Given the description of an element on the screen output the (x, y) to click on. 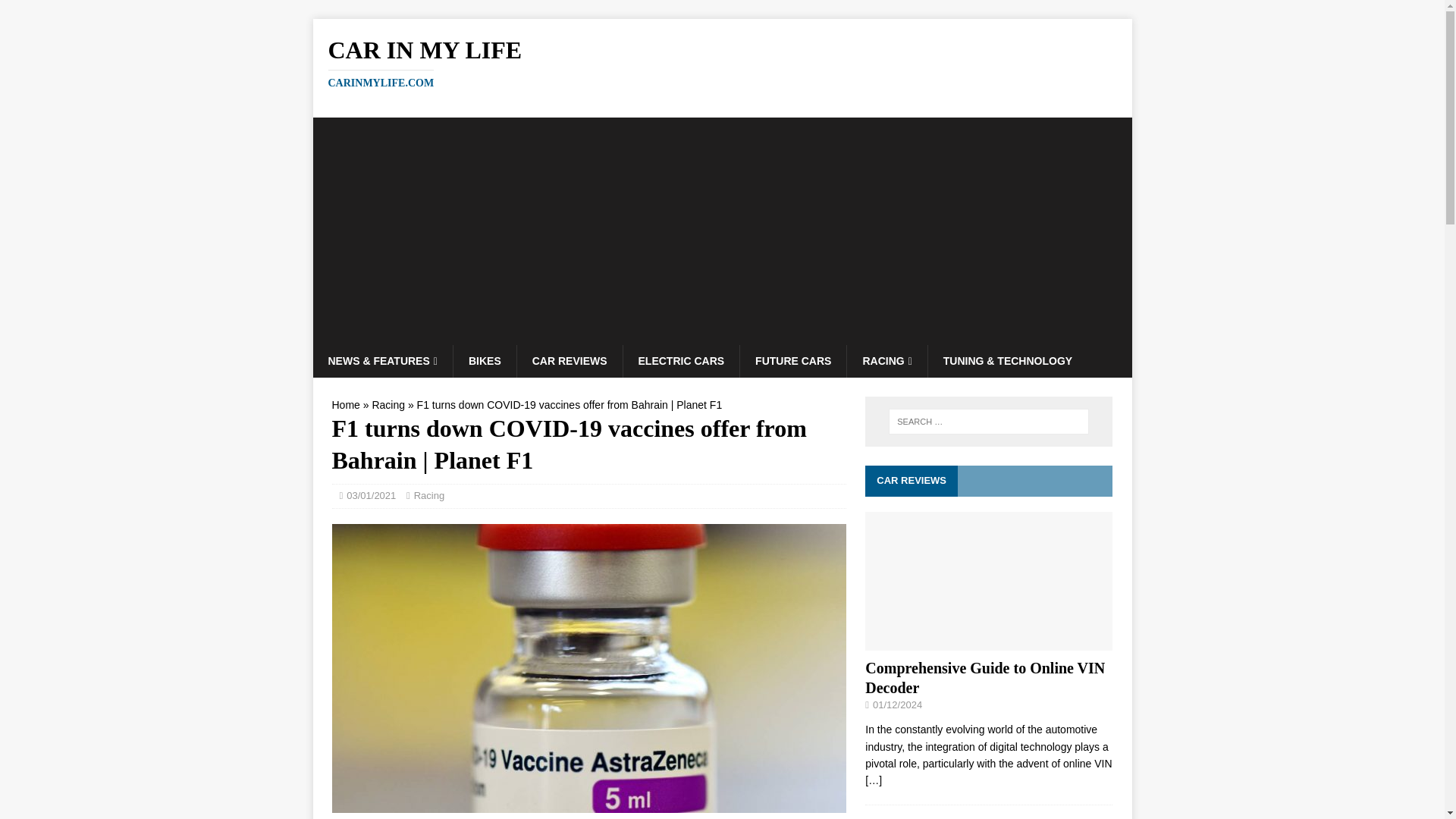
Comprehensive Guide to Online VIN Decoder (984, 678)
Comprehensive Guide to Online VIN Decoder (873, 779)
Racing (387, 404)
FUTURE CARS (792, 360)
Comprehensive Guide to Online VIN Decoder (984, 678)
Home (345, 404)
CAR REVIEWS (569, 360)
BIKES (484, 360)
Car in My Life (721, 62)
